Given the description of an element on the screen output the (x, y) to click on. 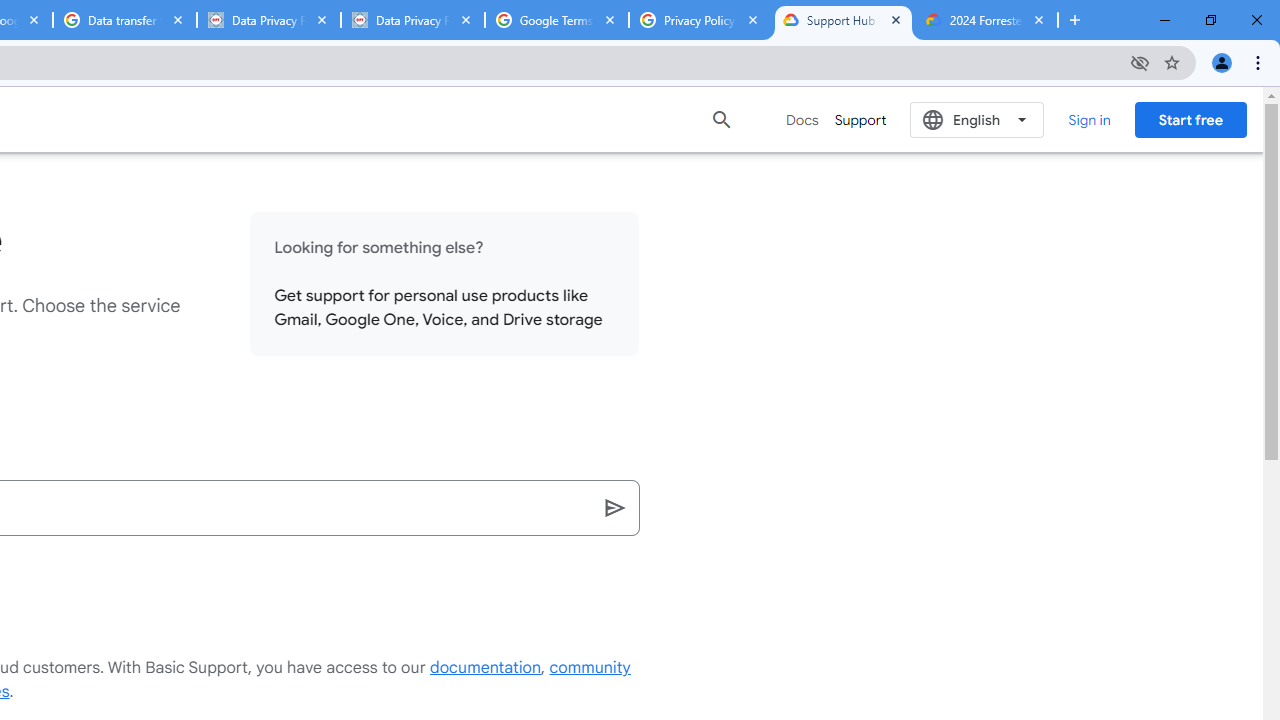
Search (615, 507)
Restore (1210, 20)
documentation (485, 668)
Minimize (1165, 20)
Support Hub | Google Cloud (843, 20)
Data Privacy Framework (412, 20)
New Tab (1075, 20)
Chrome (1260, 62)
